Given the description of an element on the screen output the (x, y) to click on. 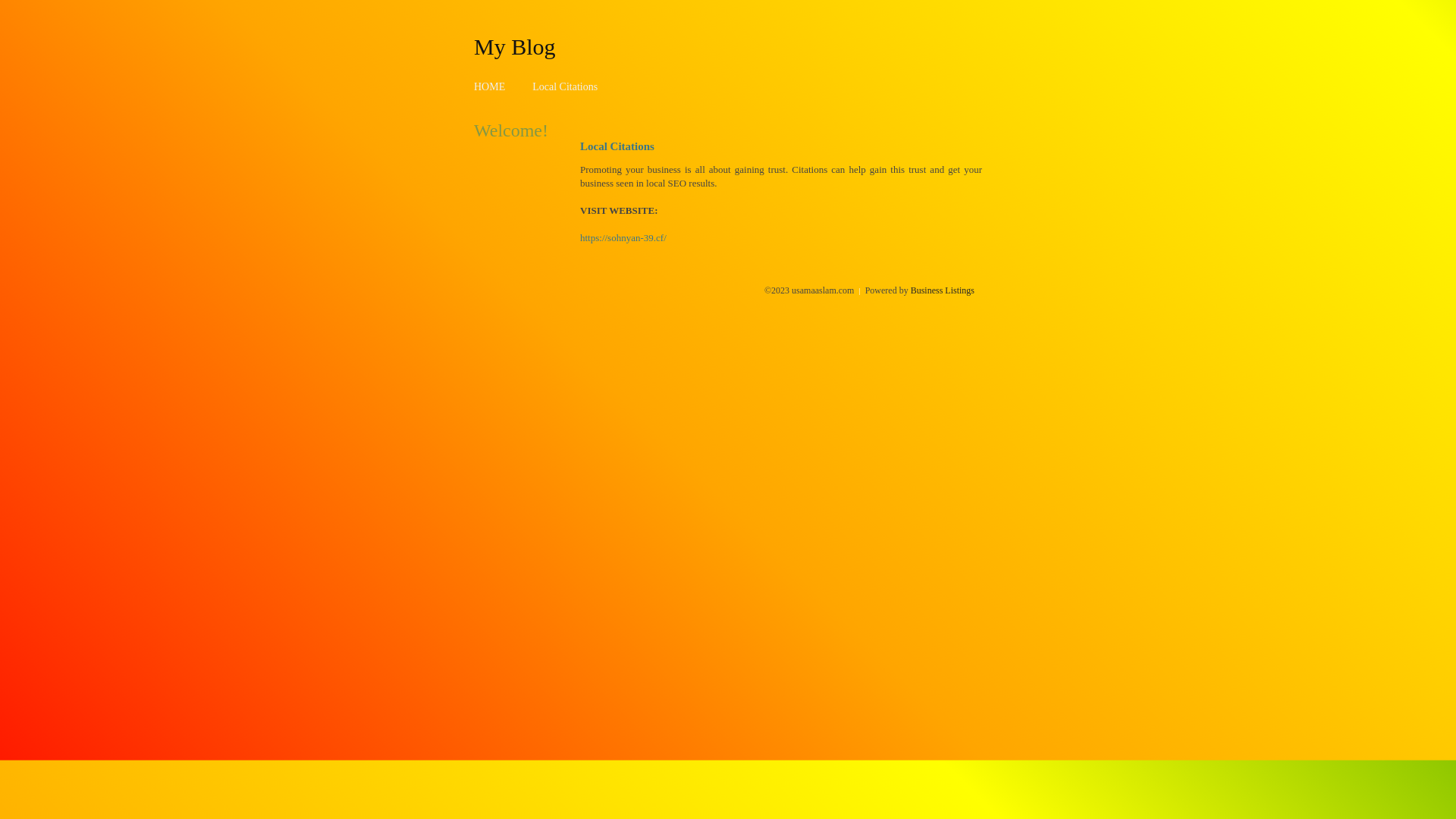
Local Citations Element type: text (564, 86)
HOME Element type: text (489, 86)
My Blog Element type: text (514, 46)
Business Listings Element type: text (942, 290)
https://sohnyan-39.cf/ Element type: text (623, 237)
